Given the description of an element on the screen output the (x, y) to click on. 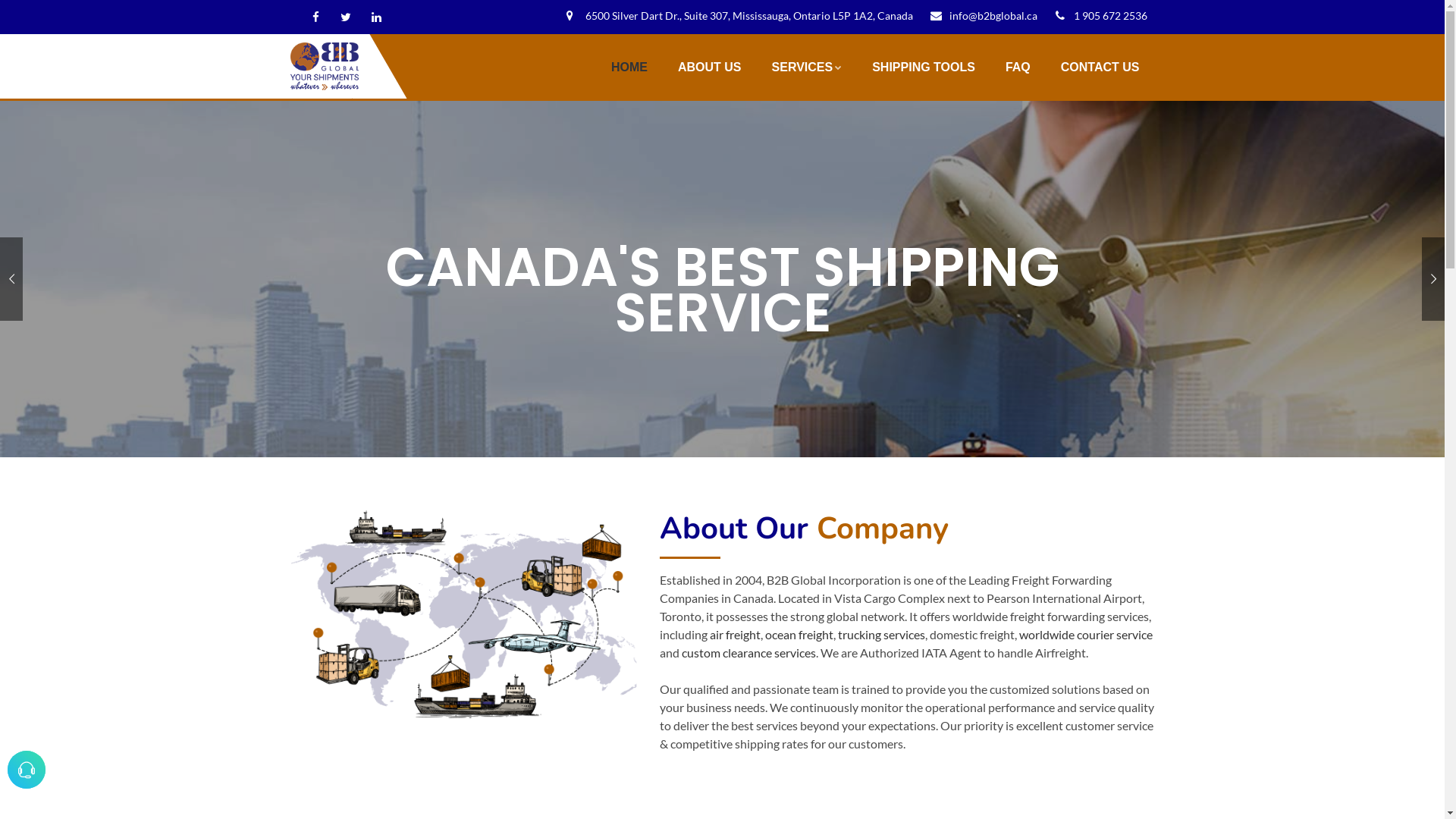
trucking services Element type: text (881, 634)
air freight Element type: text (734, 634)
info@b2bglobal.ca Element type: text (979, 15)
FAQ Element type: text (1017, 67)
worldwide courier service Element type: text (1085, 634)
custom clearance services Element type: text (748, 652)
ABOUT US Element type: text (709, 67)
SHIPPING TOOLS Element type: text (923, 67)
SERVICES Element type: text (806, 67)
1 905 672 2536 Element type: text (1096, 15)
ocean freight Element type: text (799, 634)
HOME Element type: text (629, 67)
CONTACT US Element type: text (1099, 67)
